Given the description of an element on the screen output the (x, y) to click on. 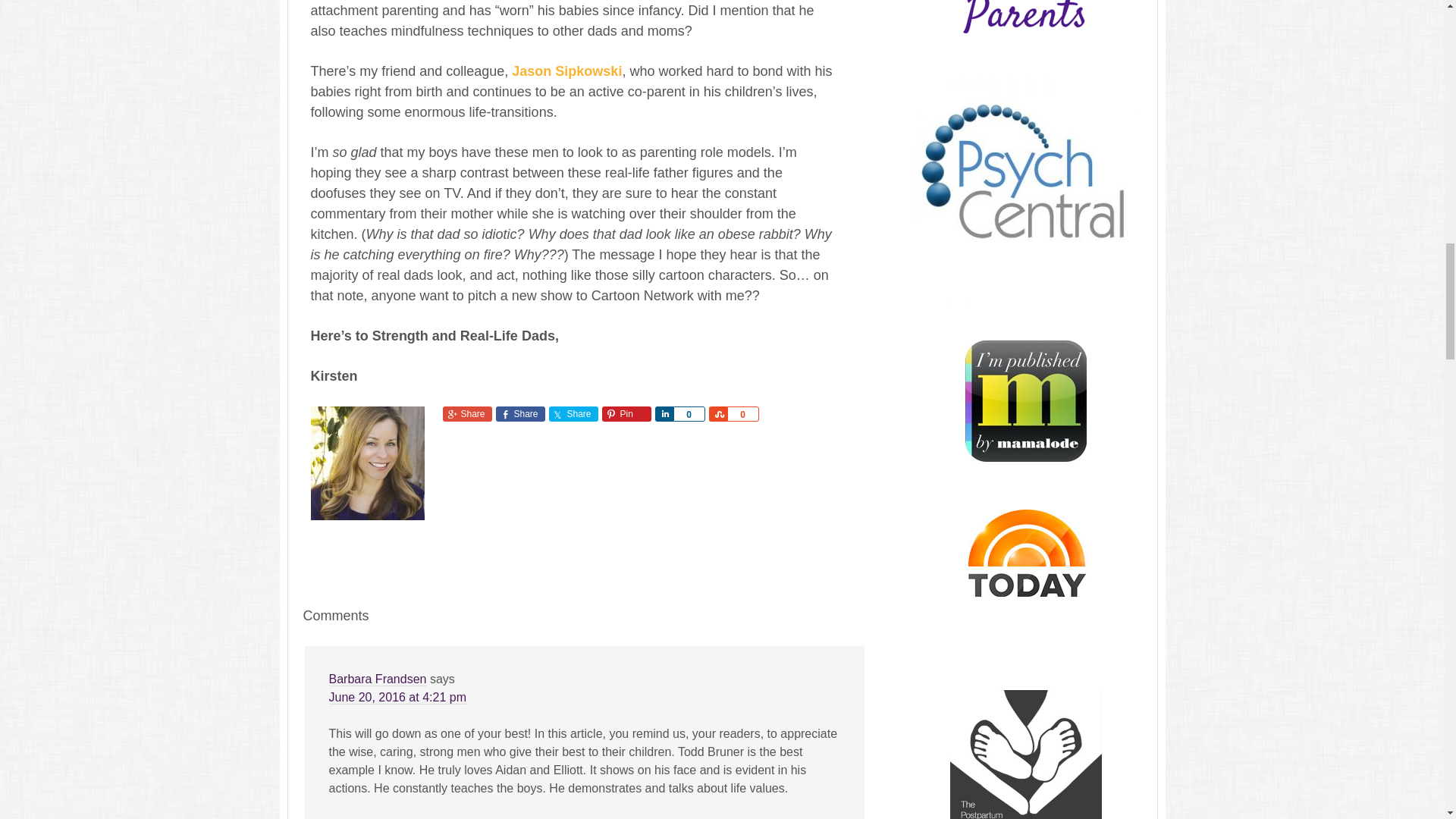
Share (573, 413)
Share (663, 413)
Share (520, 413)
Pin (626, 413)
Yes Trespassing :: Tuesday Tip (566, 70)
Share (467, 413)
Jason Sipkowski (566, 70)
0 (688, 413)
